Given the description of an element on the screen output the (x, y) to click on. 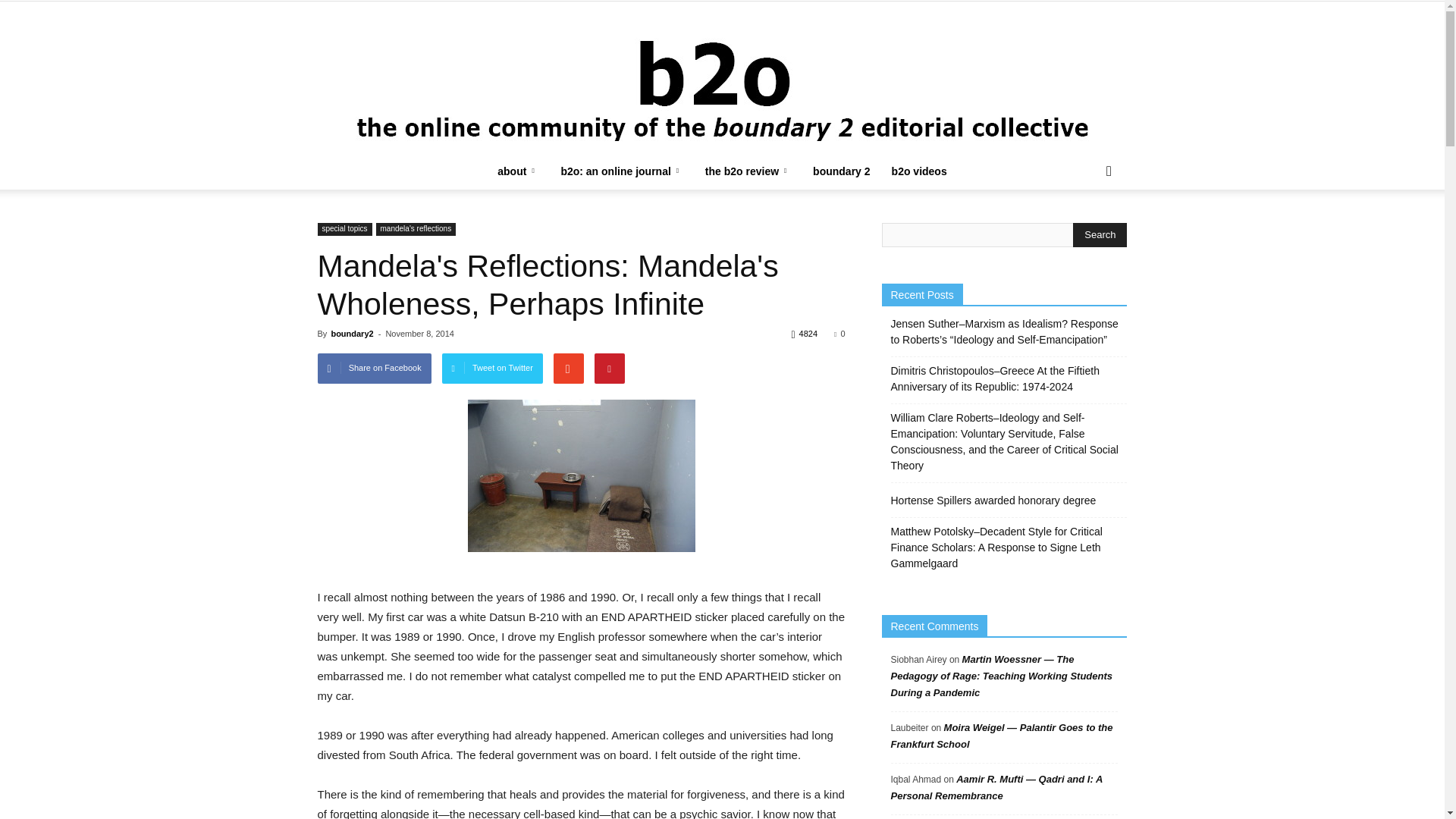
Search (1099, 234)
about (518, 171)
